Given the description of an element on the screen output the (x, y) to click on. 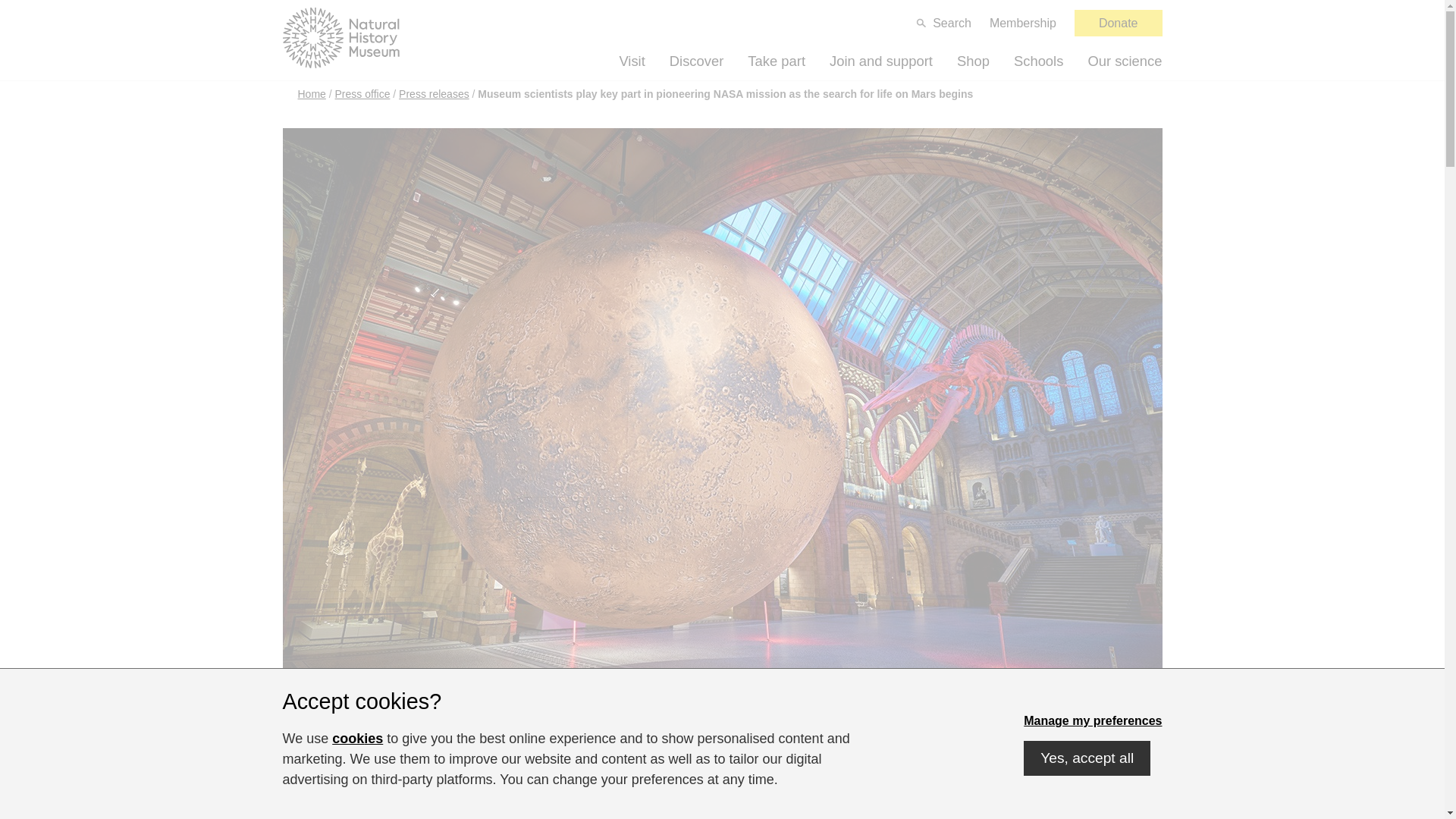
Accept All cookies (1086, 758)
Discover (696, 60)
Visit (631, 60)
Yes, accept all (1086, 758)
Take part (776, 60)
cookies (356, 738)
Manage my preferences (1092, 720)
Join and support (881, 60)
